Given the description of an element on the screen output the (x, y) to click on. 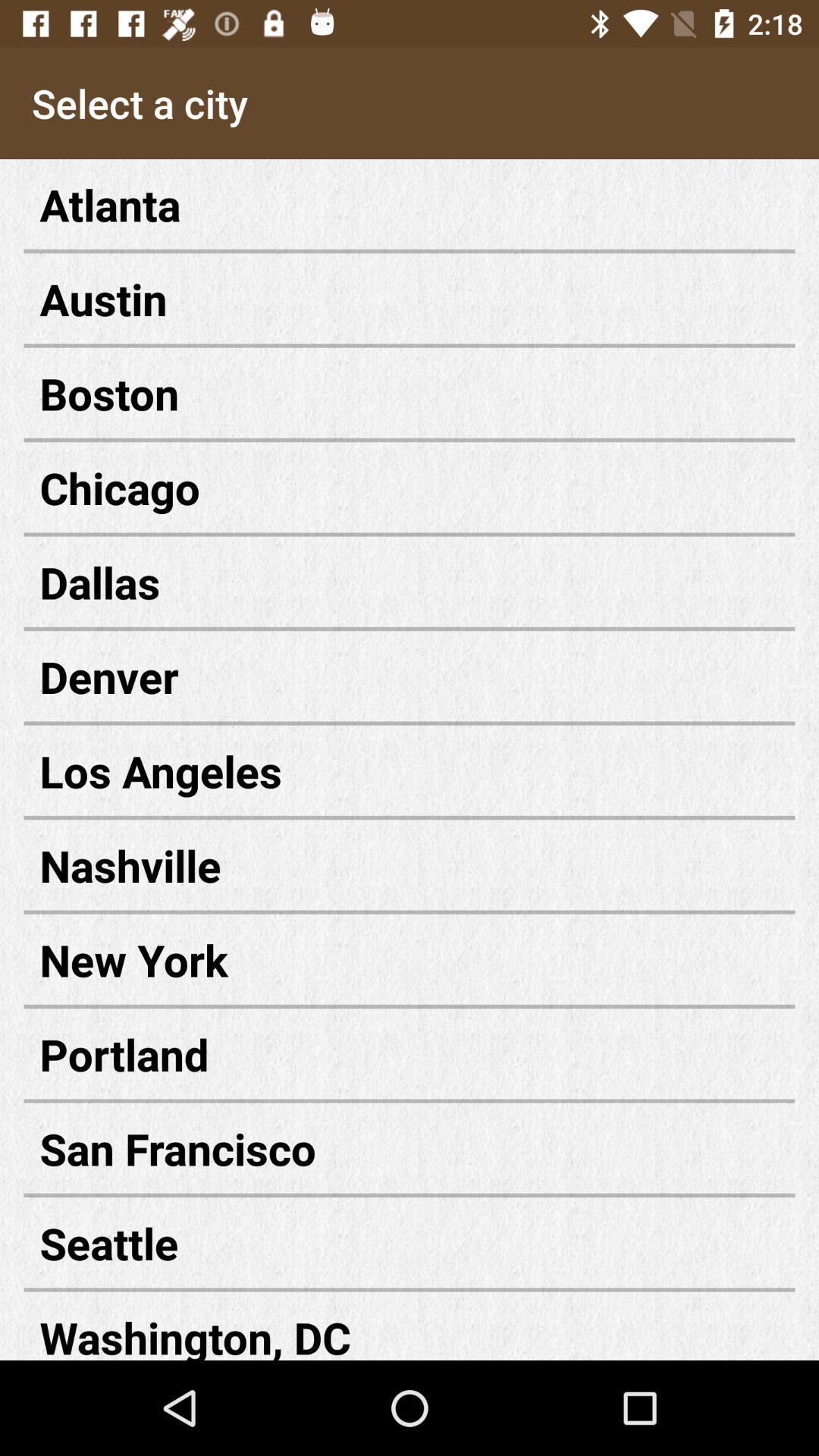
click the san francisco item (409, 1148)
